Given the description of an element on the screen output the (x, y) to click on. 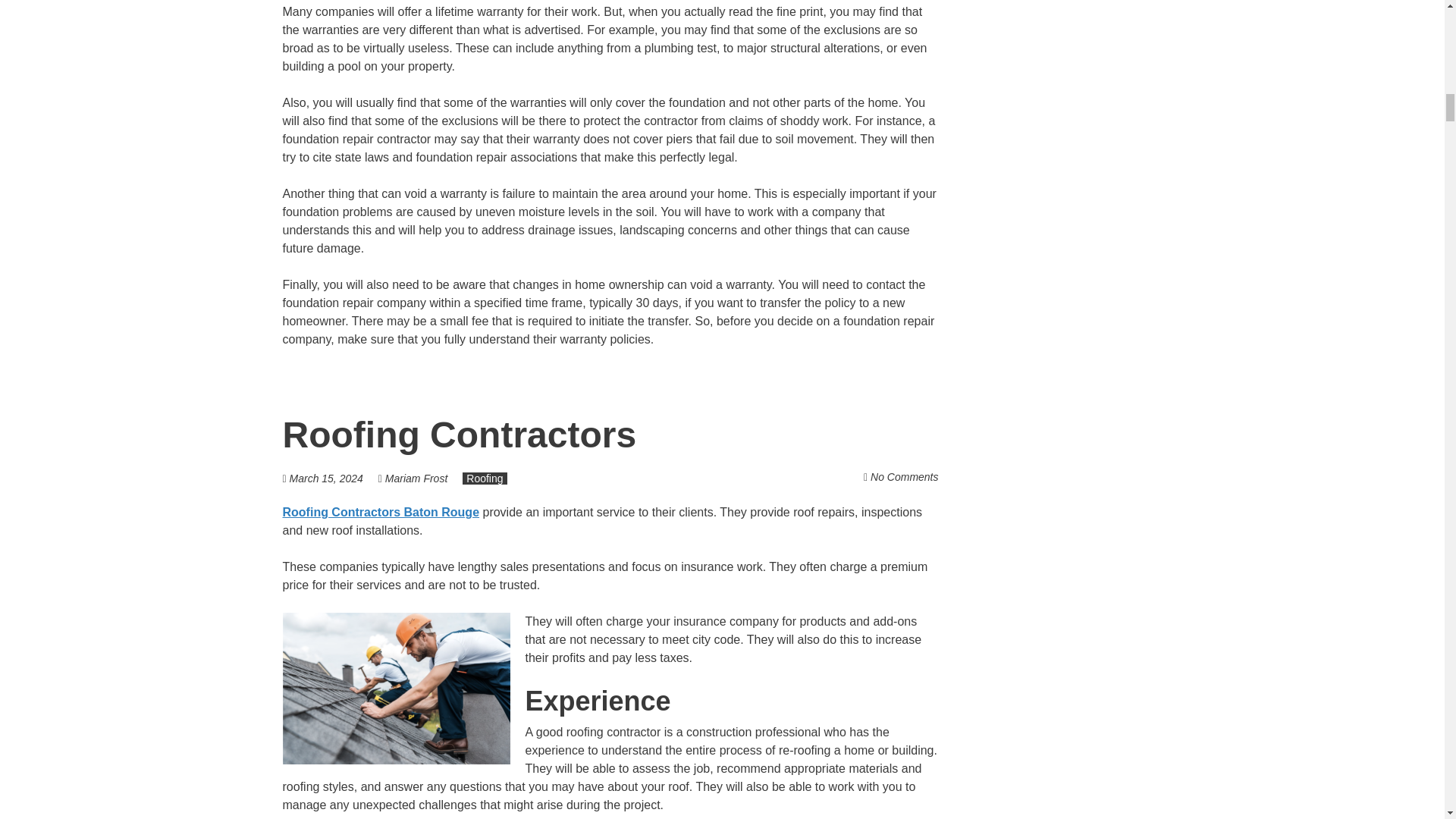
Mariam Frost (415, 478)
March 15, 2024 (325, 478)
Roofing (484, 478)
Roofing Contractors (459, 434)
Roofing Contractors Baton Rouge (380, 512)
Comment on Roofing Contractors (903, 476)
Permalink to Roofing Contractors (459, 434)
View all posts by Mariam Frost (415, 478)
No Comments (903, 476)
